Given the description of an element on the screen output the (x, y) to click on. 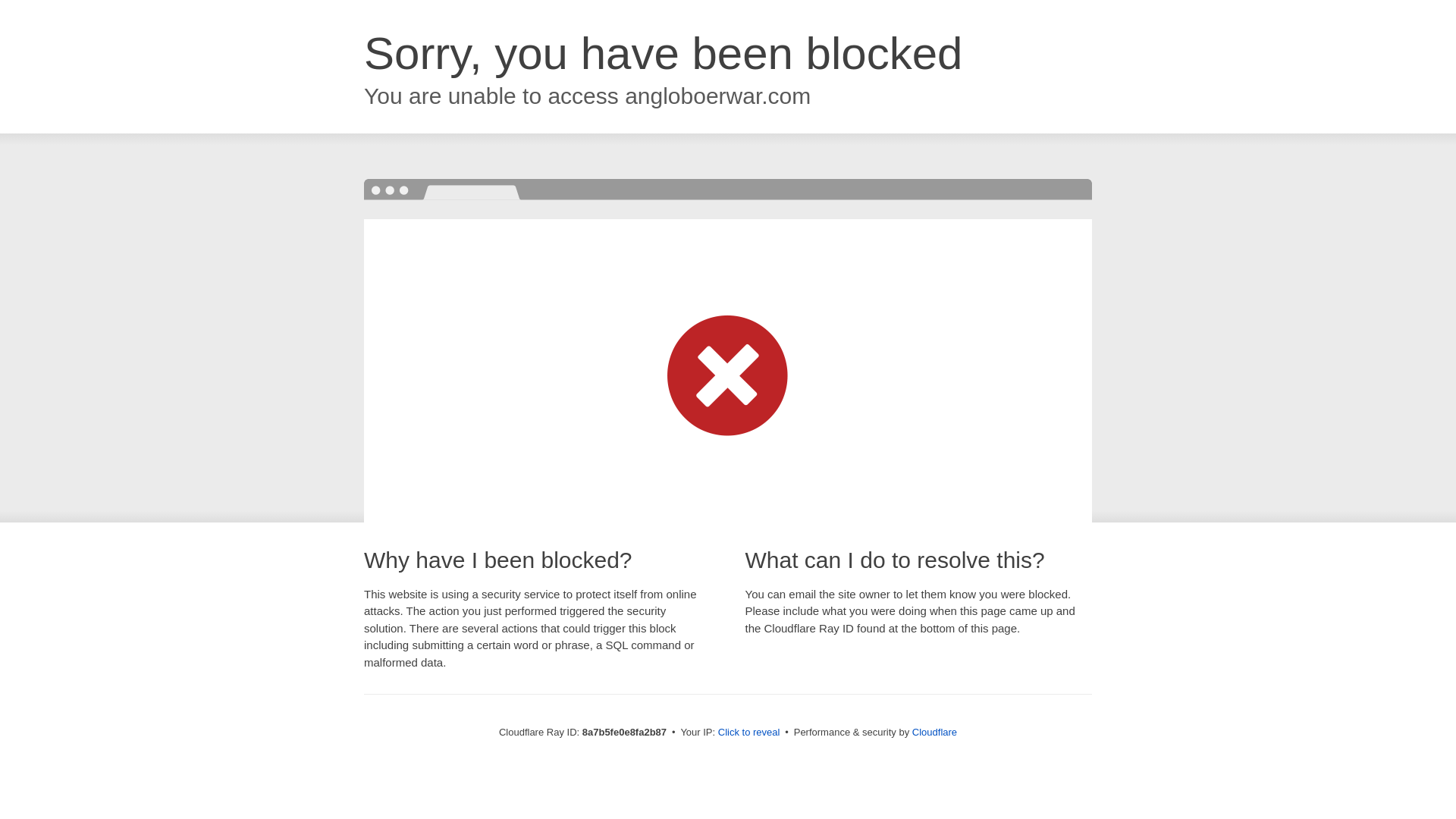
Cloudflare (934, 731)
Click to reveal (748, 732)
